Given the description of an element on the screen output the (x, y) to click on. 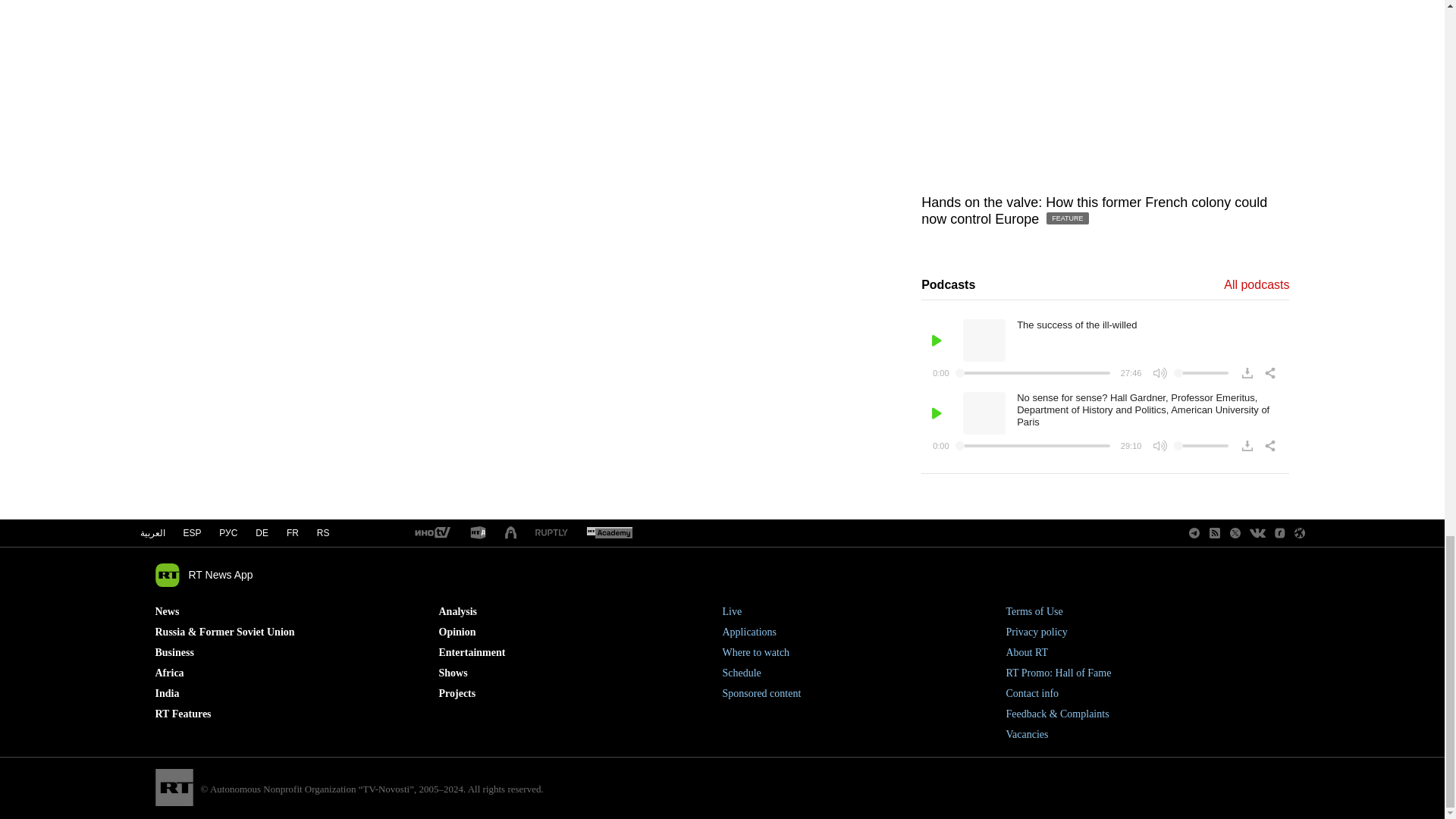
RT  (431, 533)
RT  (478, 533)
RT  (551, 533)
RT  (608, 533)
